Given the description of an element on the screen output the (x, y) to click on. 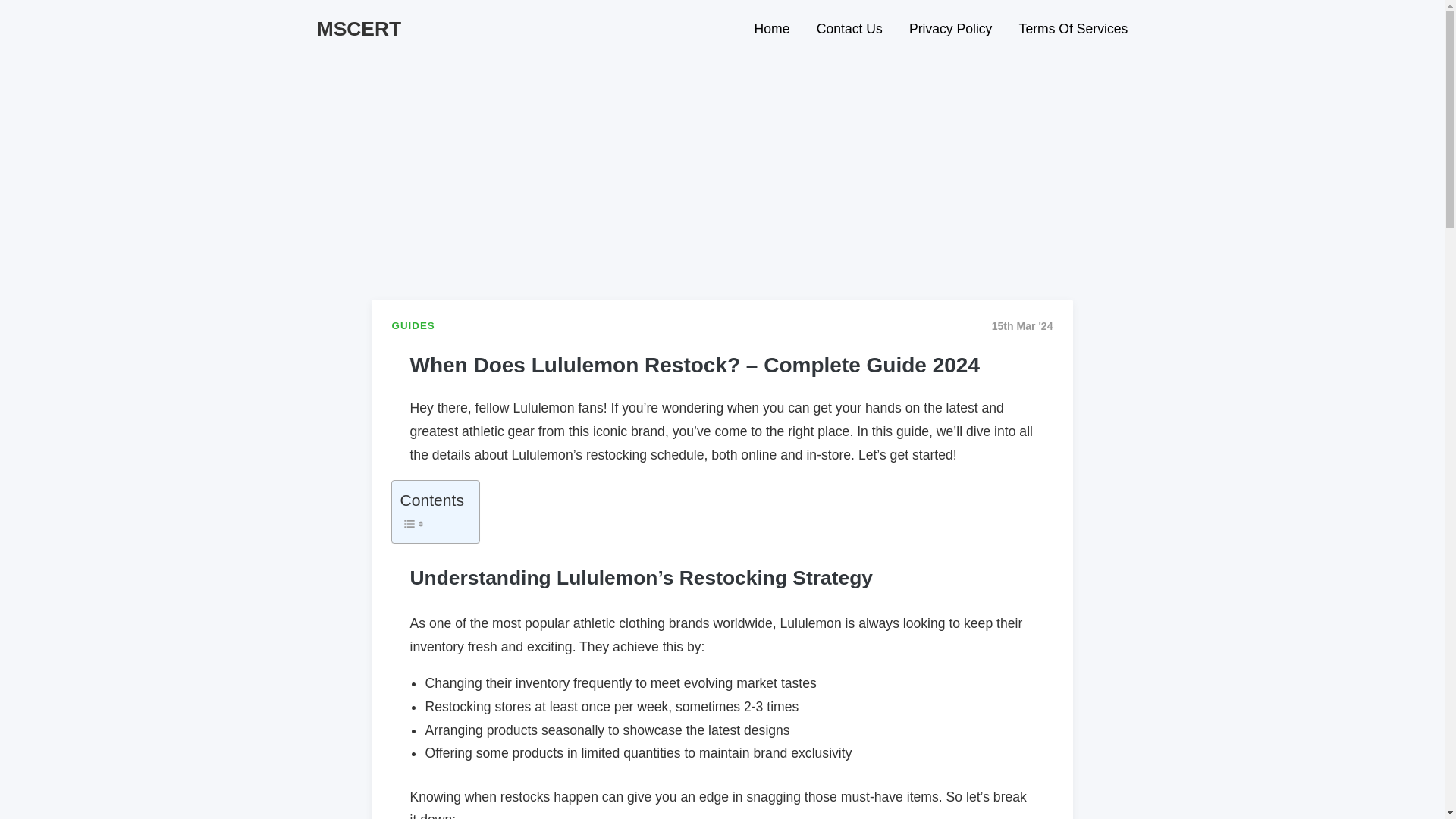
GUIDES (412, 326)
Contact Us (849, 29)
MSCERT (359, 28)
Home (771, 29)
Terms Of Services (1067, 29)
Privacy Policy (951, 29)
